Given the description of an element on the screen output the (x, y) to click on. 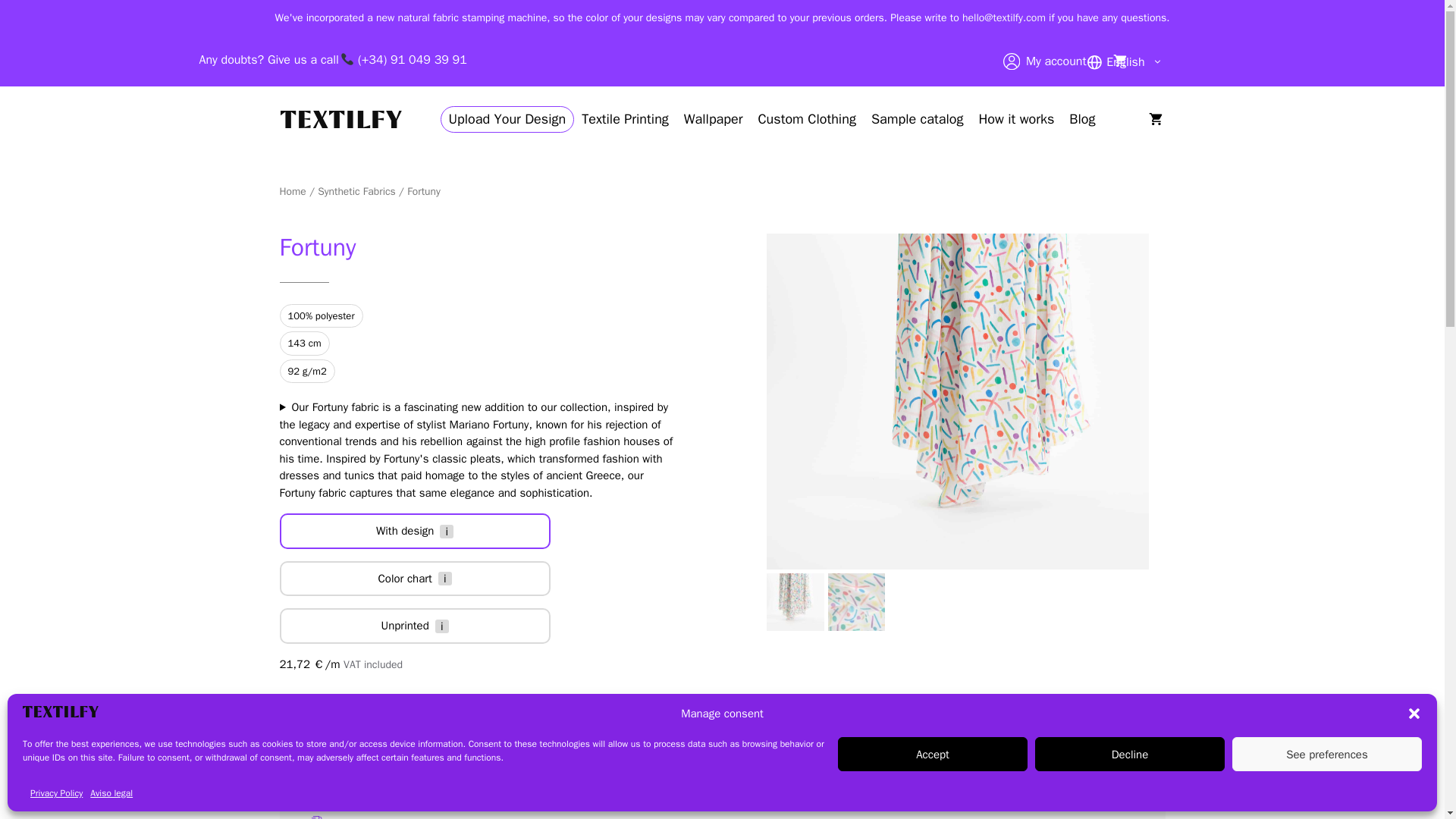
Privacy Policy (56, 793)
Sample catalog (917, 118)
My account (1056, 61)
Accept (932, 754)
View your shopping cart (1154, 118)
Custom Clothing (806, 118)
Decline (1129, 754)
Shipping Single Product Image (314, 817)
English EN (1123, 62)
Wallpaper (714, 118)
How it works (1016, 118)
Upload Your Design (508, 119)
View your shopping cart (1122, 60)
